Given the description of an element on the screen output the (x, y) to click on. 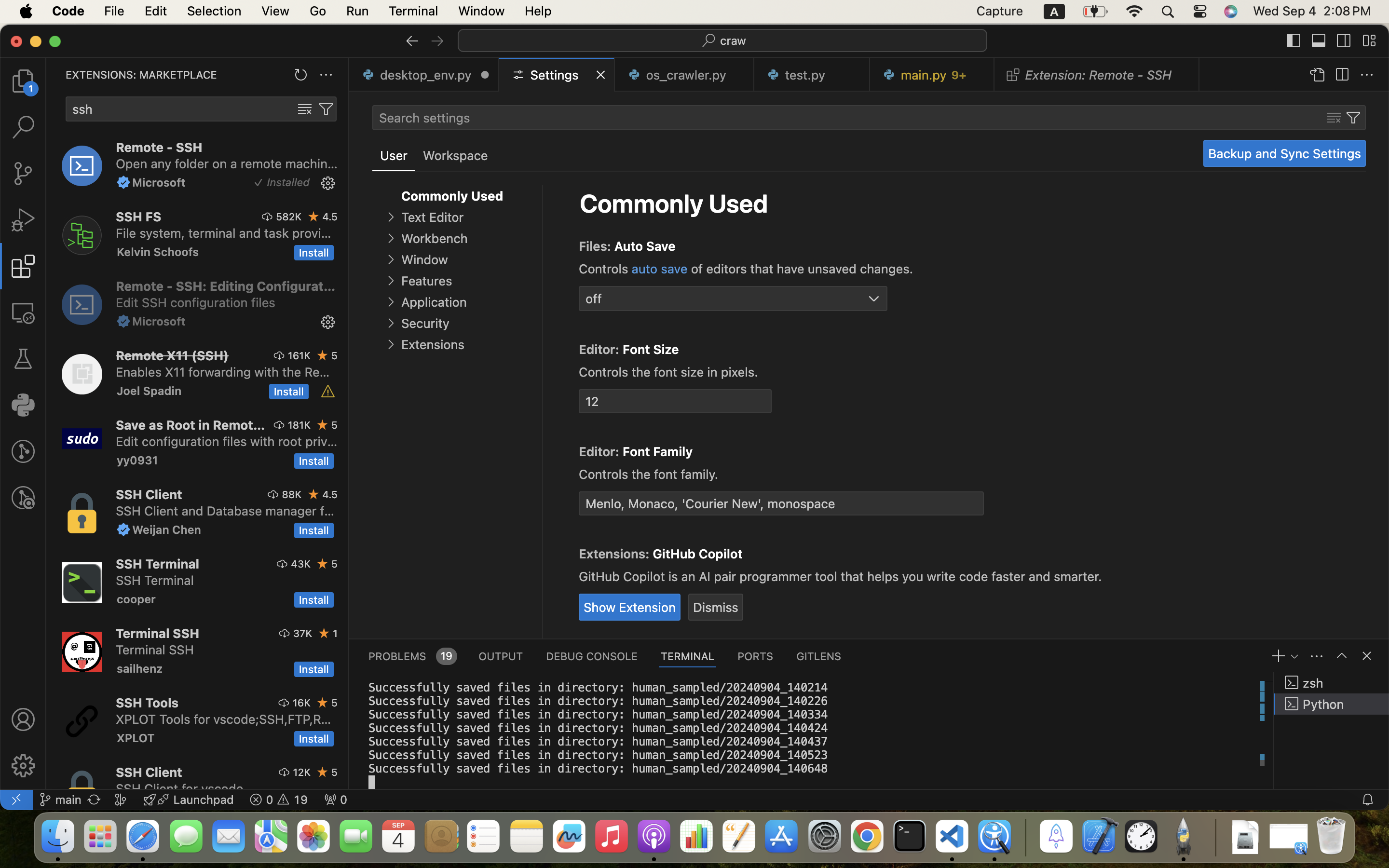
Installed Element type: AXStaticText (288, 182)
zsh  Element type: AXGroup (1331, 682)
88K Element type: AXStaticText (291, 494)
0  Element type: AXRadioButton (23, 497)
 Element type: AXStaticText (123, 529)
